Given the description of an element on the screen output the (x, y) to click on. 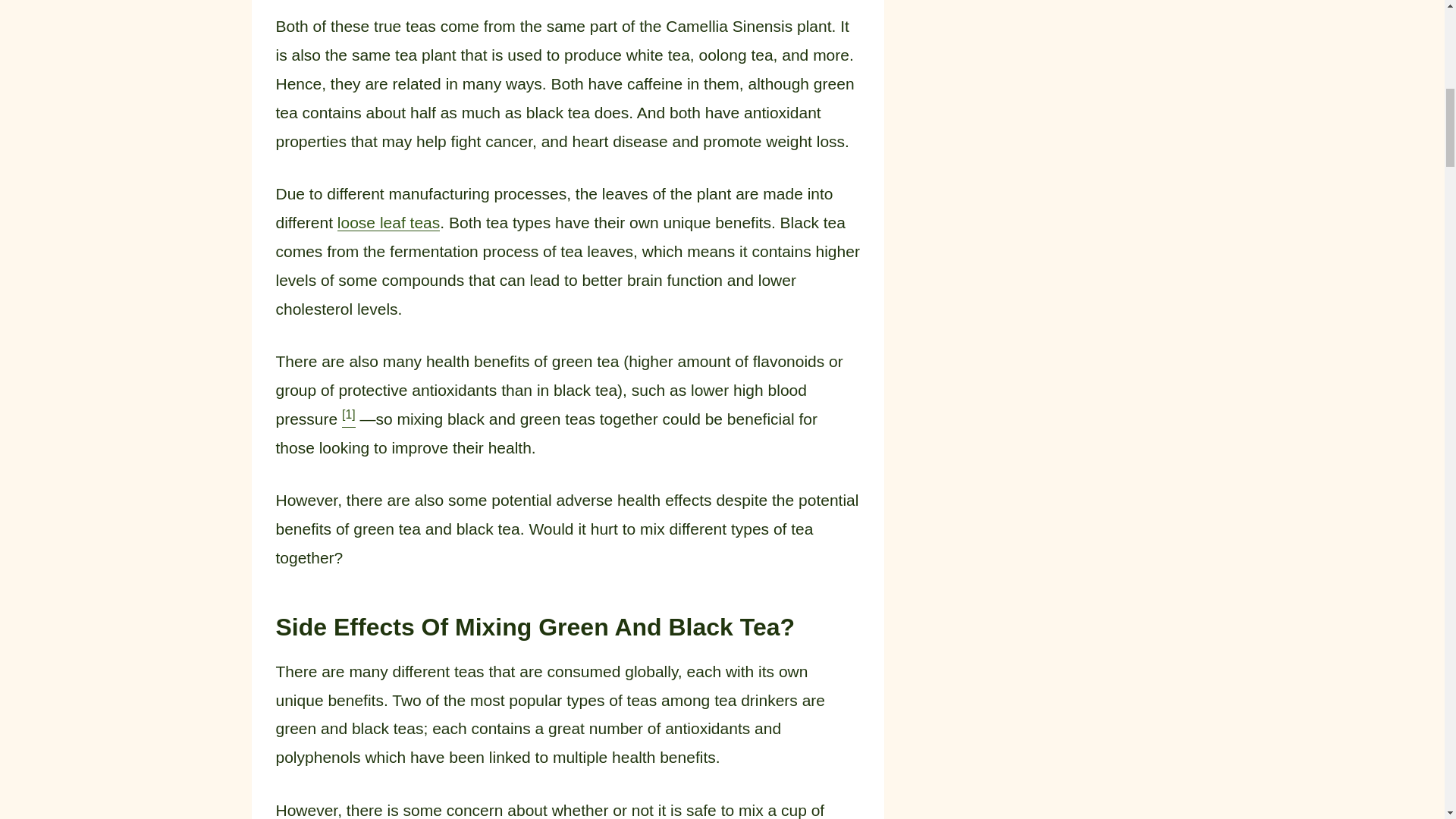
loose leaf teas (388, 221)
